Given the description of an element on the screen output the (x, y) to click on. 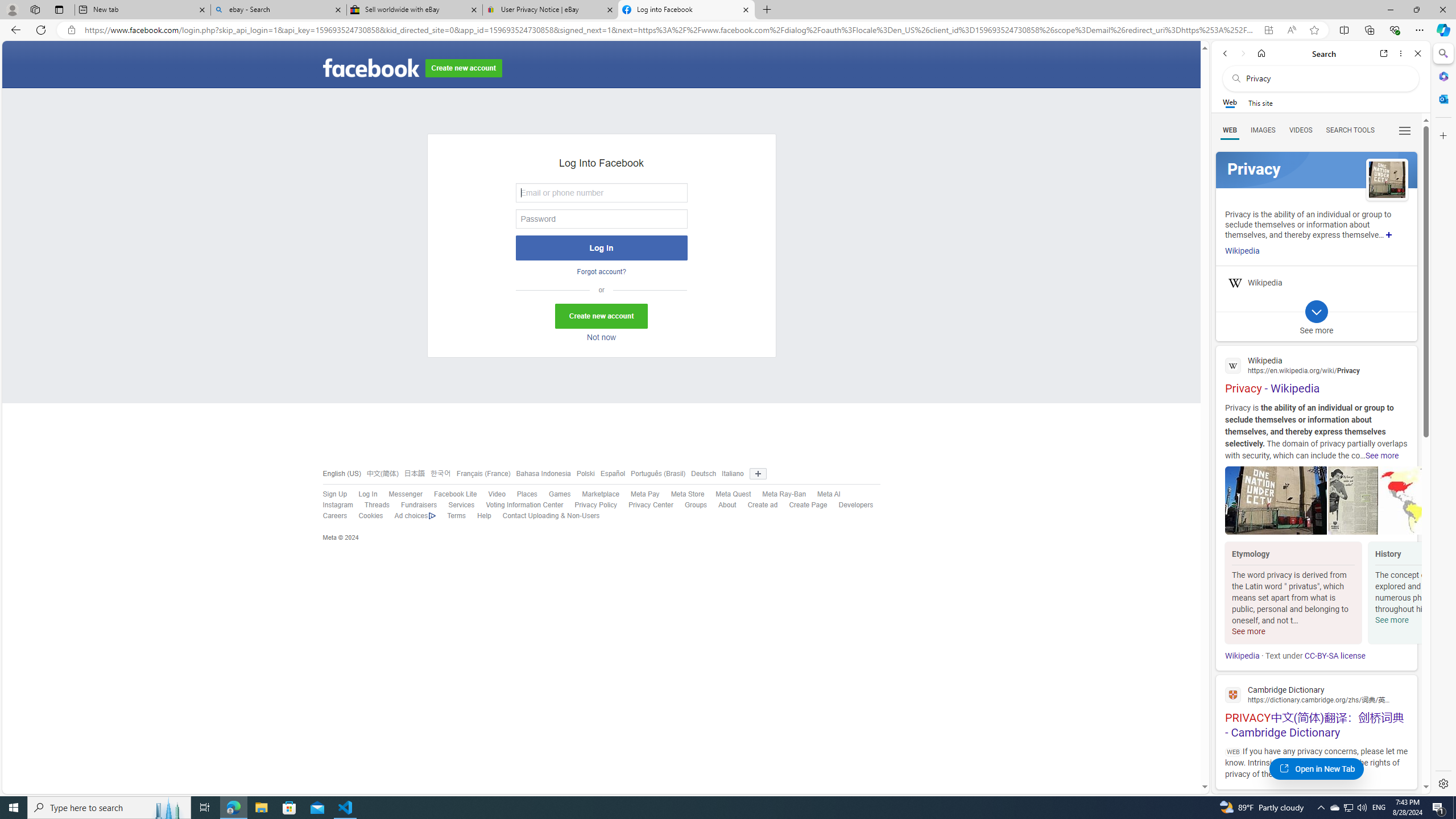
Open link in new tab (1383, 53)
Meta Pay (644, 493)
SEARCH TOOLS (1350, 130)
Instagram (337, 505)
Polski (585, 473)
Bahasa Indonesia (542, 473)
Class: b_exp_chevron_svg b_expmob_chev (1315, 311)
Show more (1388, 234)
Contact Uploading & Non-Users (544, 516)
Create Page (808, 505)
Password (601, 218)
Video (490, 494)
